Given the description of an element on the screen output the (x, y) to click on. 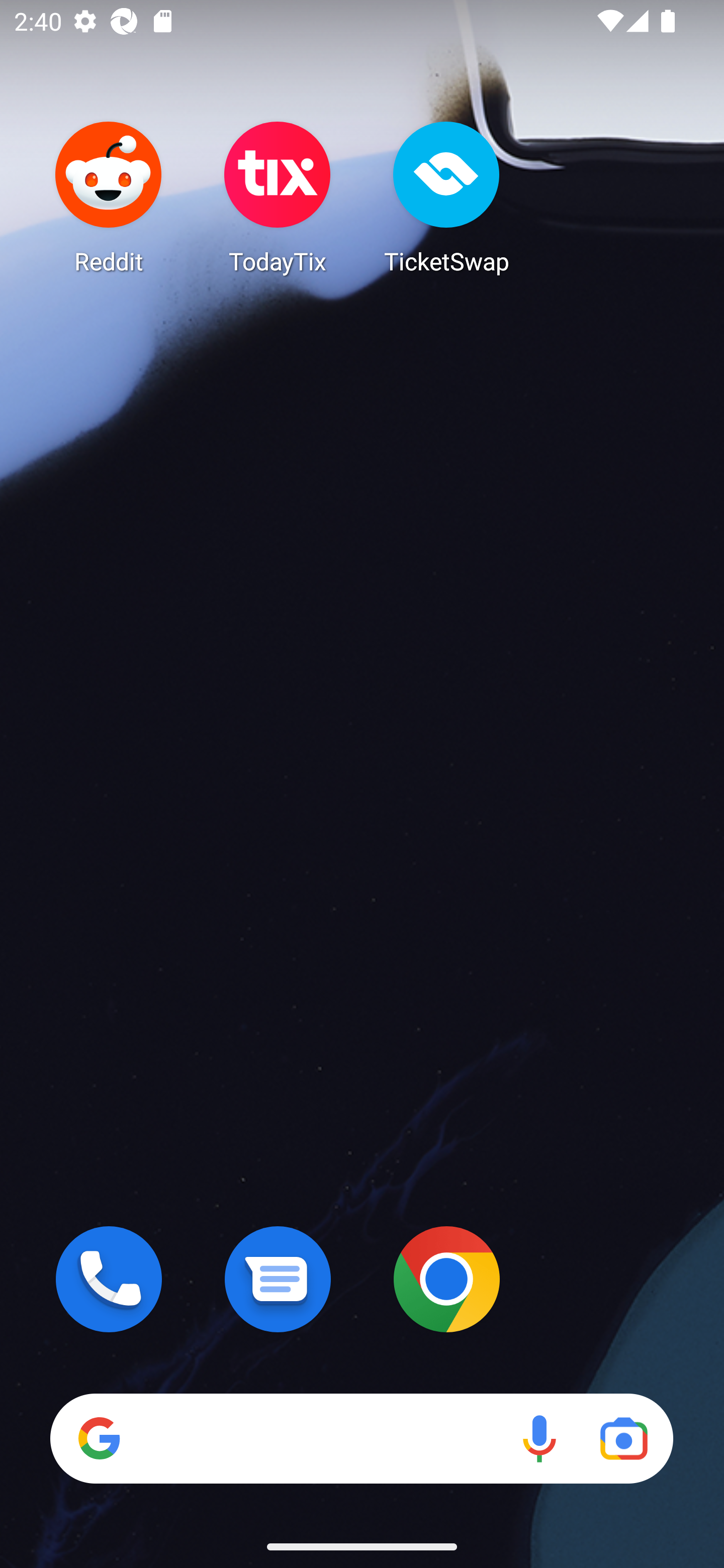
Reddit (108, 196)
TodayTix (277, 196)
TicketSwap (445, 196)
Phone (108, 1279)
Messages (277, 1279)
Chrome (446, 1279)
Voice search (539, 1438)
Google Lens (623, 1438)
